Given the description of an element on the screen output the (x, y) to click on. 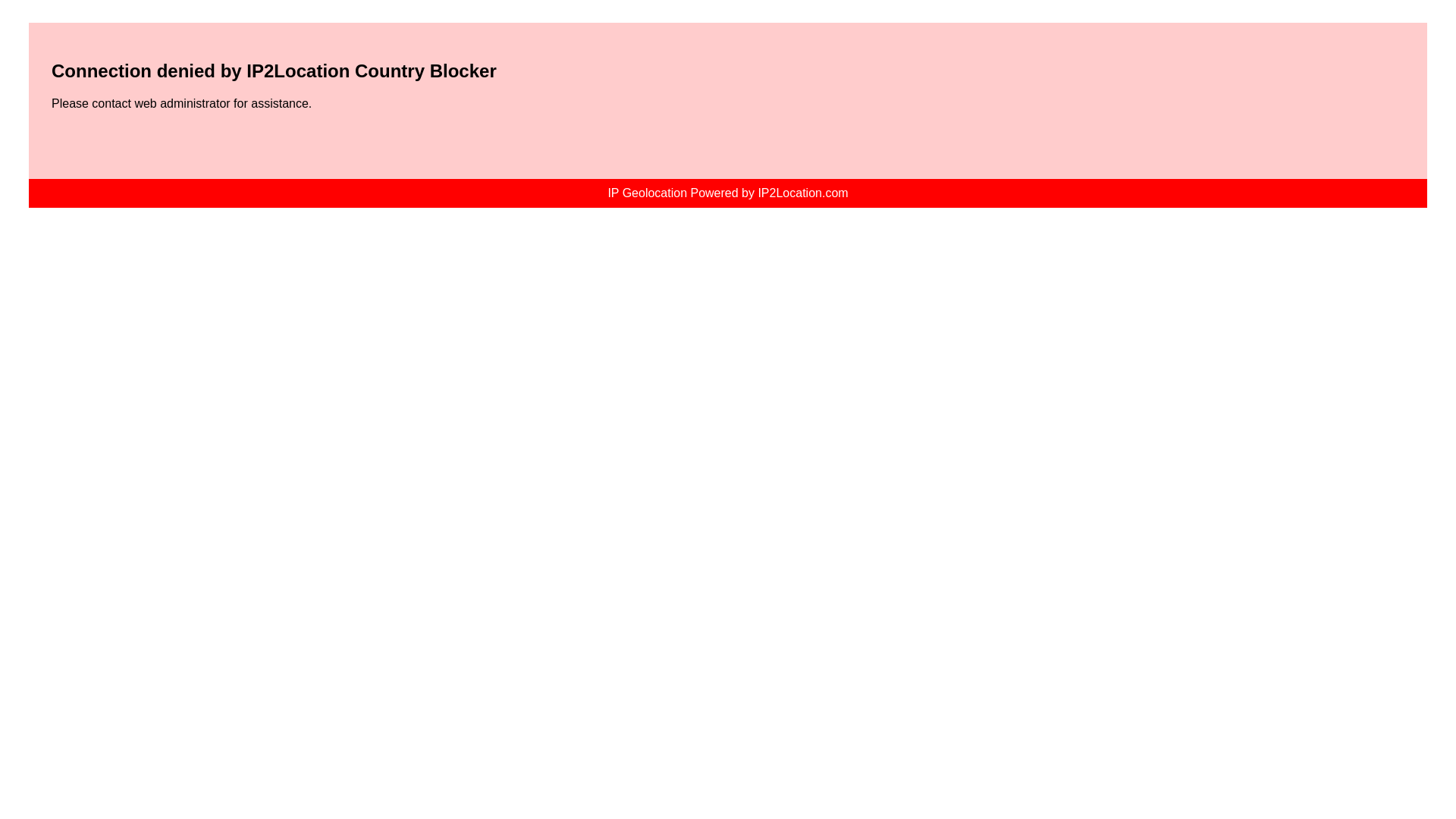
IP Geolocation Powered by IP2Location.com Element type: text (727, 192)
